Given the description of an element on the screen output the (x, y) to click on. 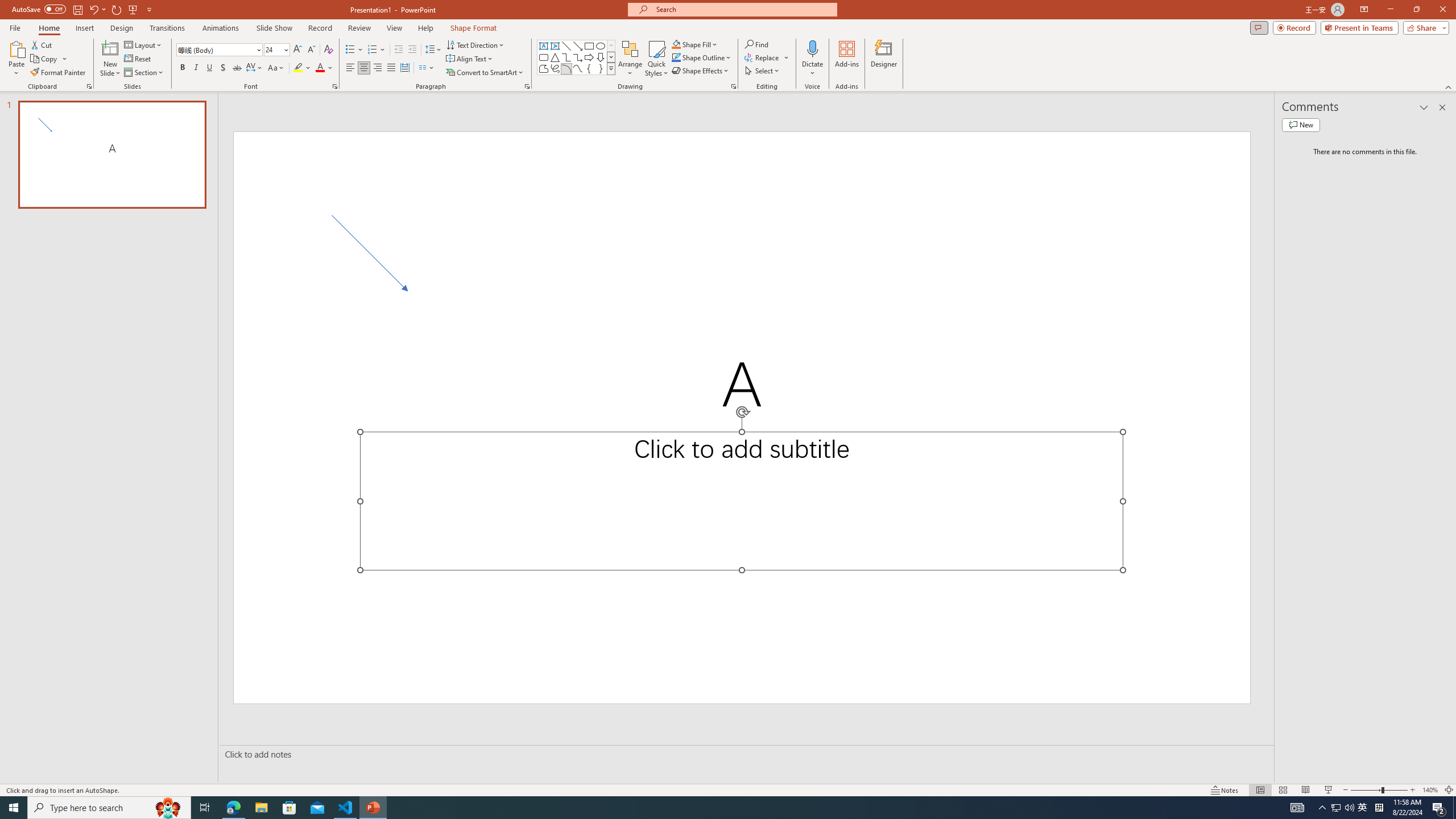
New comment (1300, 124)
